Given the description of an element on the screen output the (x, y) to click on. 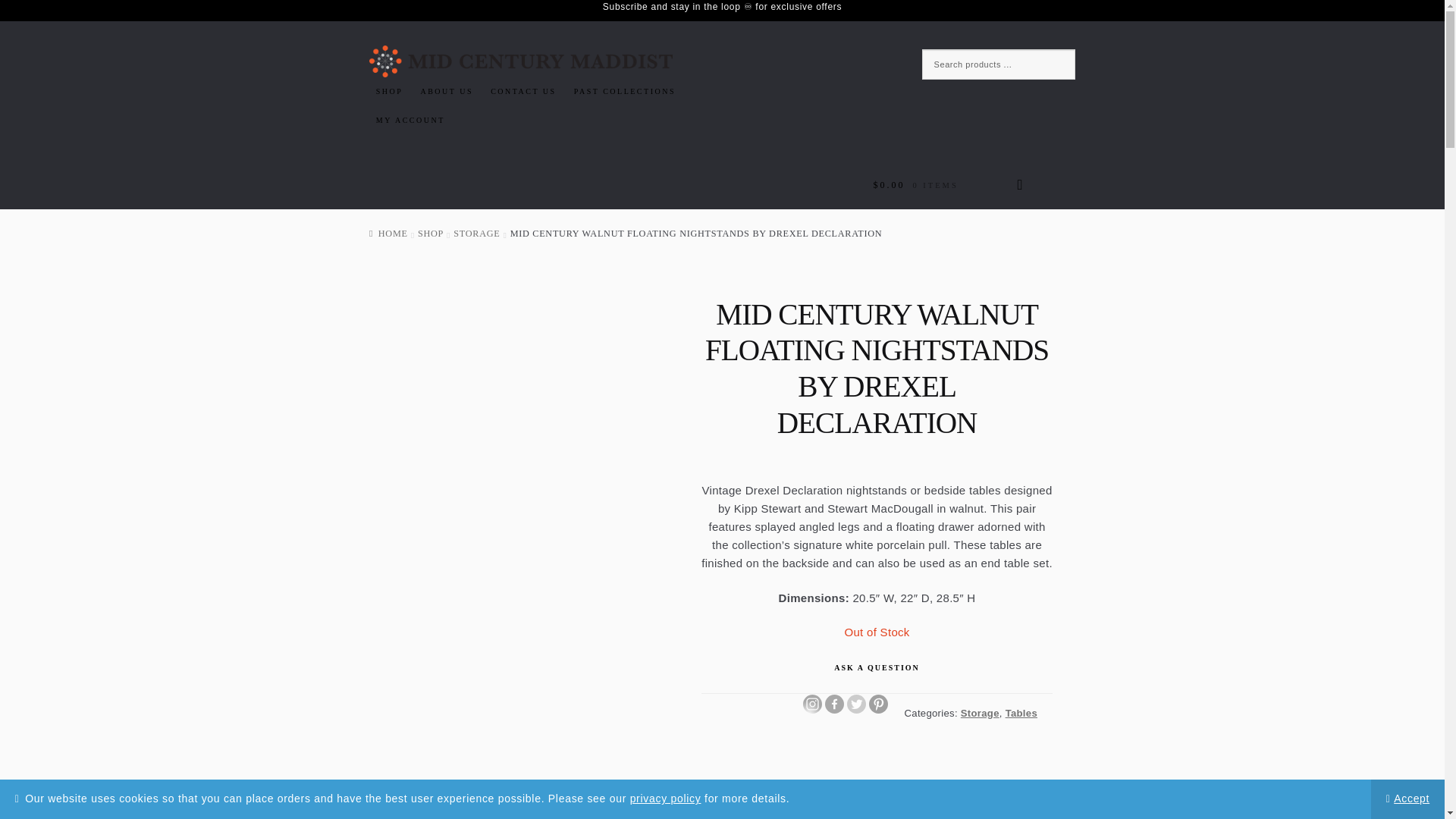
ABOUT US (446, 91)
CONTACT US (522, 91)
SHOP (430, 233)
View your shopping cart (948, 185)
STORAGE (475, 233)
Twitter (856, 703)
HOME (388, 233)
SHOP (389, 91)
MY ACCOUNT (410, 120)
Instagram (812, 703)
Facebook (834, 703)
PAST COLLECTIONS (624, 91)
Pinterest (878, 703)
